Given the description of an element on the screen output the (x, y) to click on. 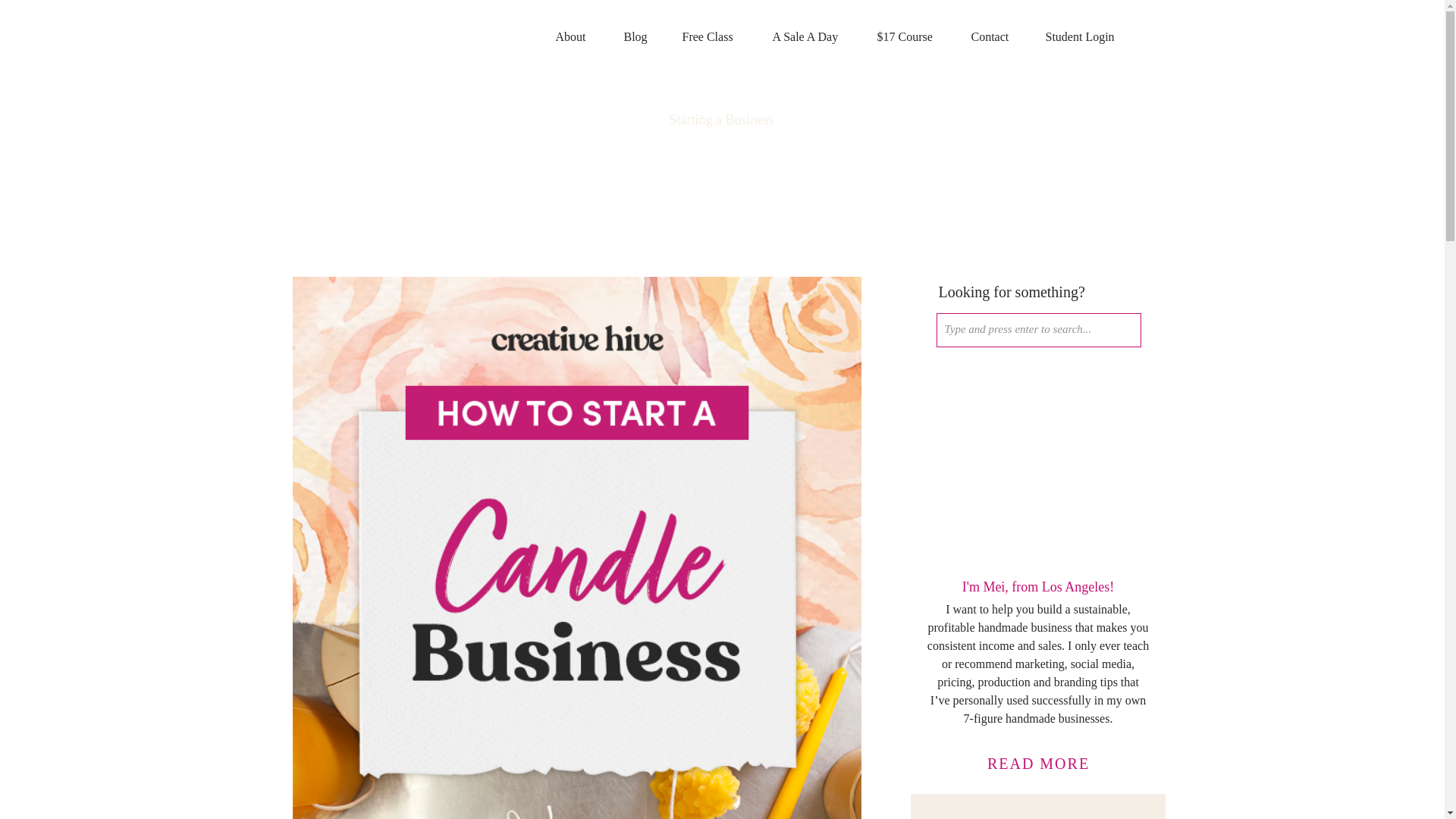
Free Class (711, 37)
Blog (636, 37)
Student Login (1084, 37)
READ MORE (1039, 764)
Starting a Business (720, 119)
A Sale A Day (808, 37)
About (572, 37)
Contact (992, 37)
